Given the description of an element on the screen output the (x, y) to click on. 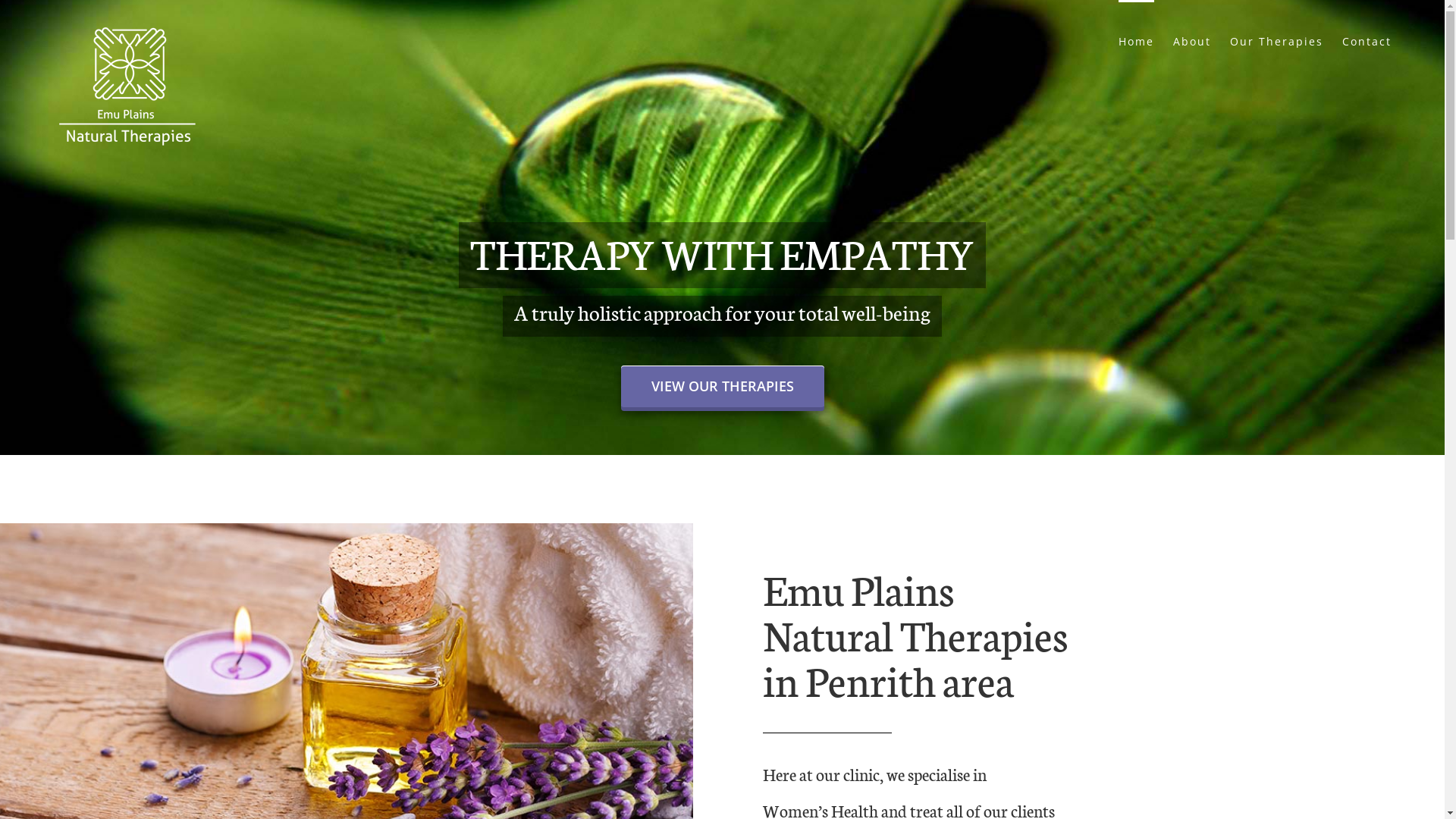
VIEW OUR THERAPIES Element type: text (721, 386)
Our Therapies Element type: text (1276, 40)
Home Element type: text (1136, 40)
Contact Element type: text (1366, 40)
About Element type: text (1192, 40)
